Given the description of an element on the screen output the (x, y) to click on. 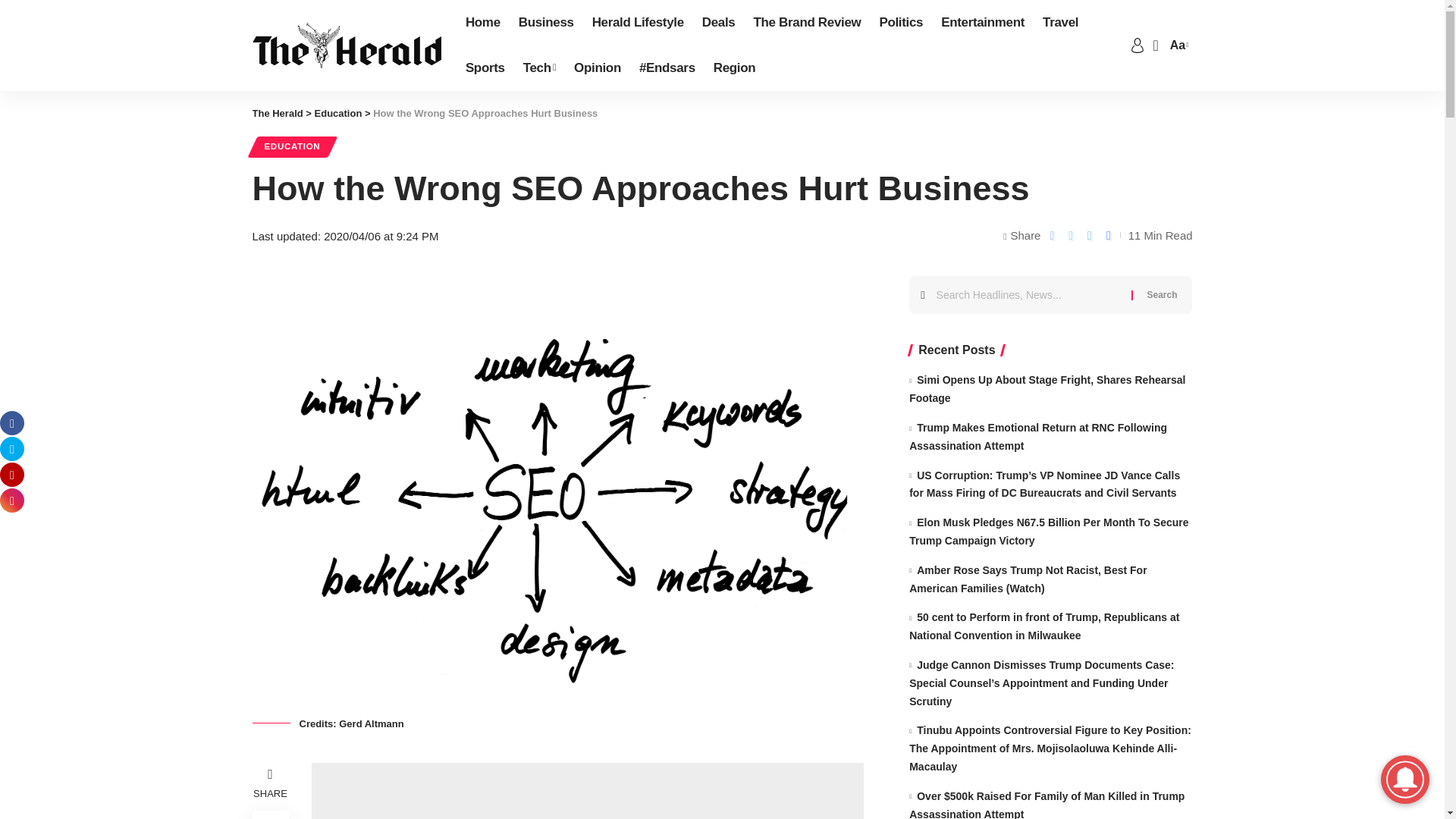
Go to The Herald. (276, 112)
Advertisement (587, 790)
Search (1161, 294)
Politics (900, 22)
Travel (1060, 22)
Deals (718, 22)
Region (734, 67)
Home (483, 22)
Tech (538, 67)
The Brand Review (806, 22)
Go to the Education Category archives. (338, 112)
Opinion (597, 67)
Business (546, 22)
Aa (1177, 45)
The Herald (346, 44)
